Given the description of an element on the screen output the (x, y) to click on. 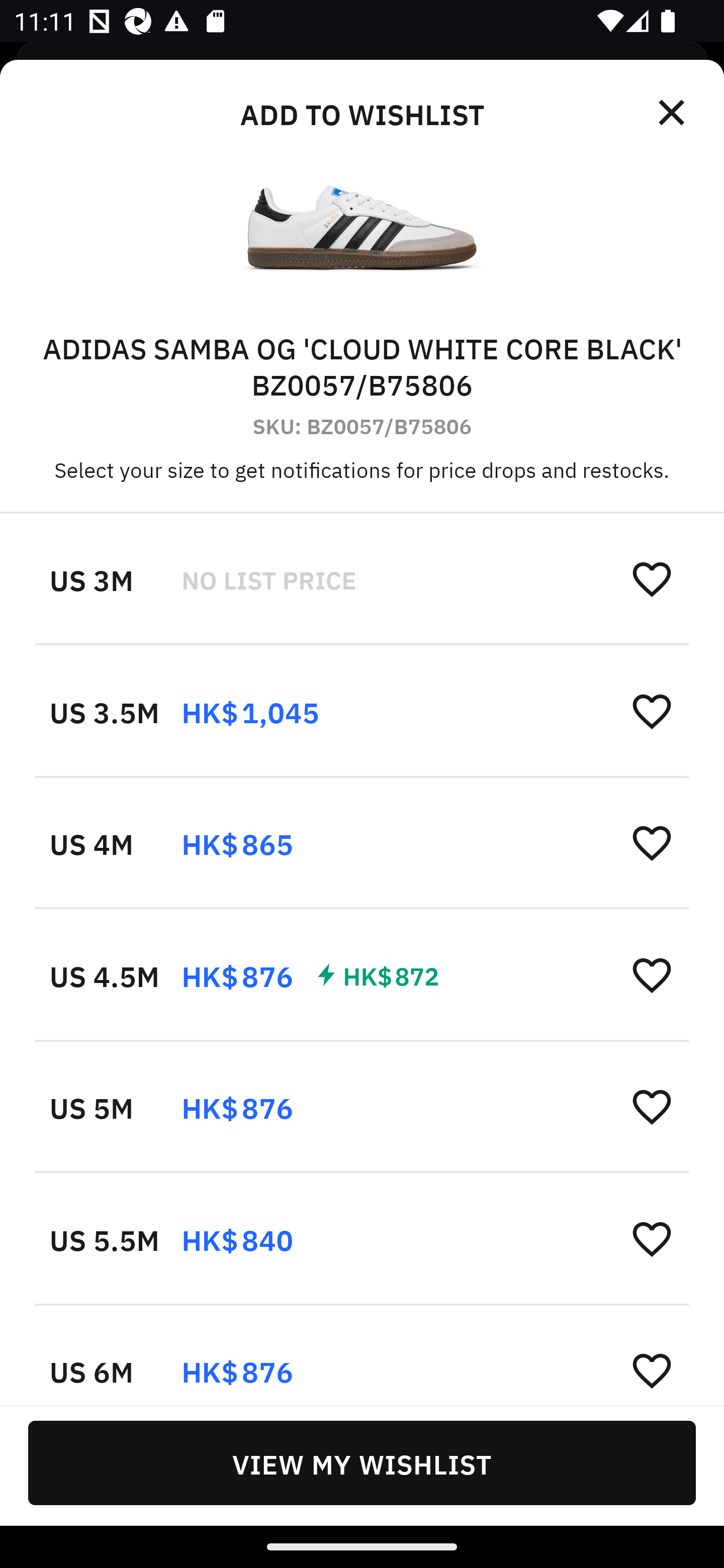
 (672, 112)
󰋕 (651, 578)
󰋕 (651, 710)
󰋕 (651, 842)
󰋕 (651, 974)
󰋕 (651, 1105)
󰋕 (651, 1237)
󰋕 (651, 1369)
VIEW MY WISHLIST (361, 1462)
